Given the description of an element on the screen output the (x, y) to click on. 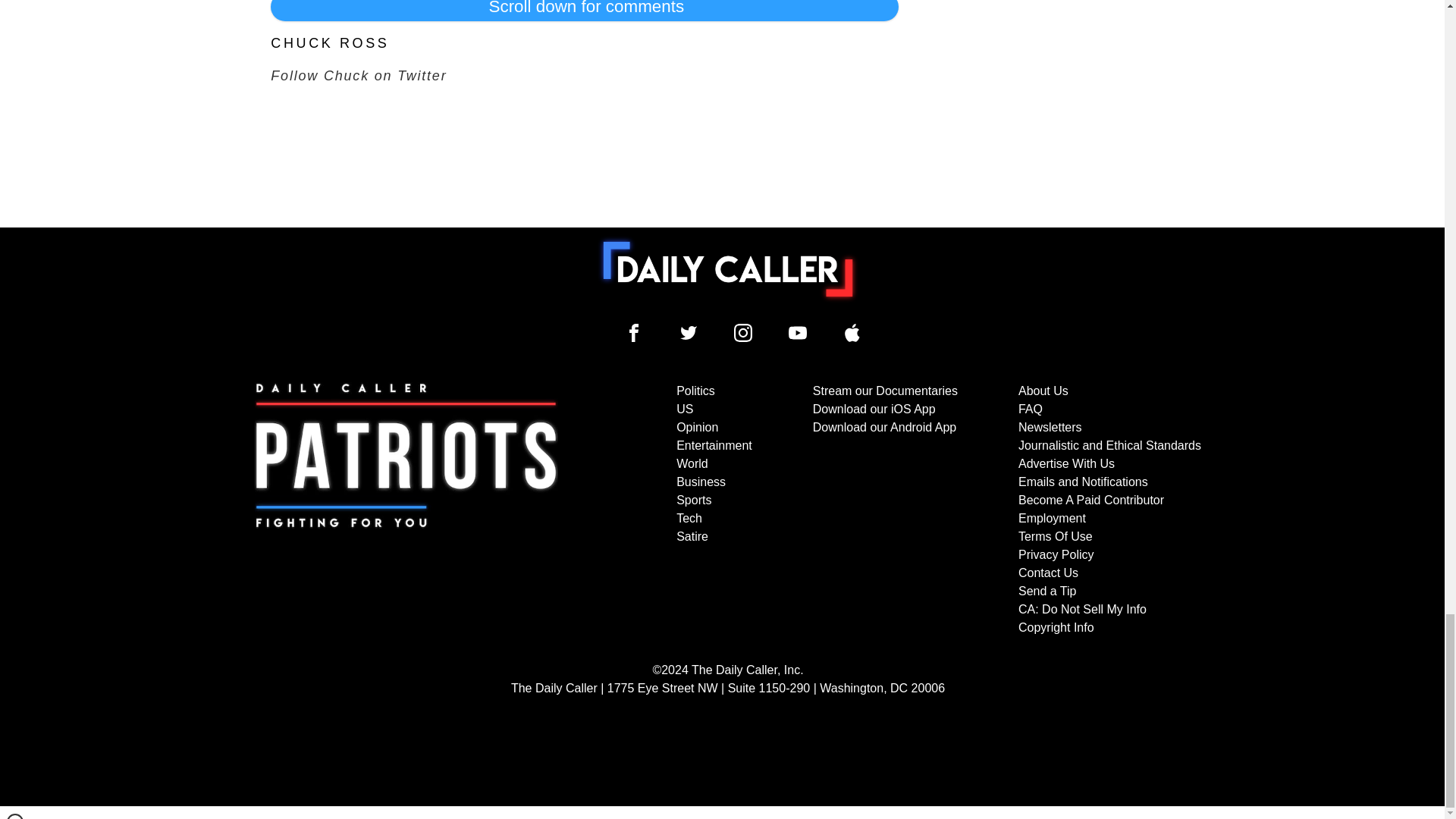
Subscribe to The Daily Caller (405, 509)
Daily Caller Instagram (742, 332)
Daily Caller Twitter (688, 332)
Daily Caller YouTube (797, 332)
Scroll down for comments (584, 10)
To home page (727, 268)
Daily Caller Facebook (633, 332)
Daily Caller YouTube (852, 332)
